Given the description of an element on the screen output the (x, y) to click on. 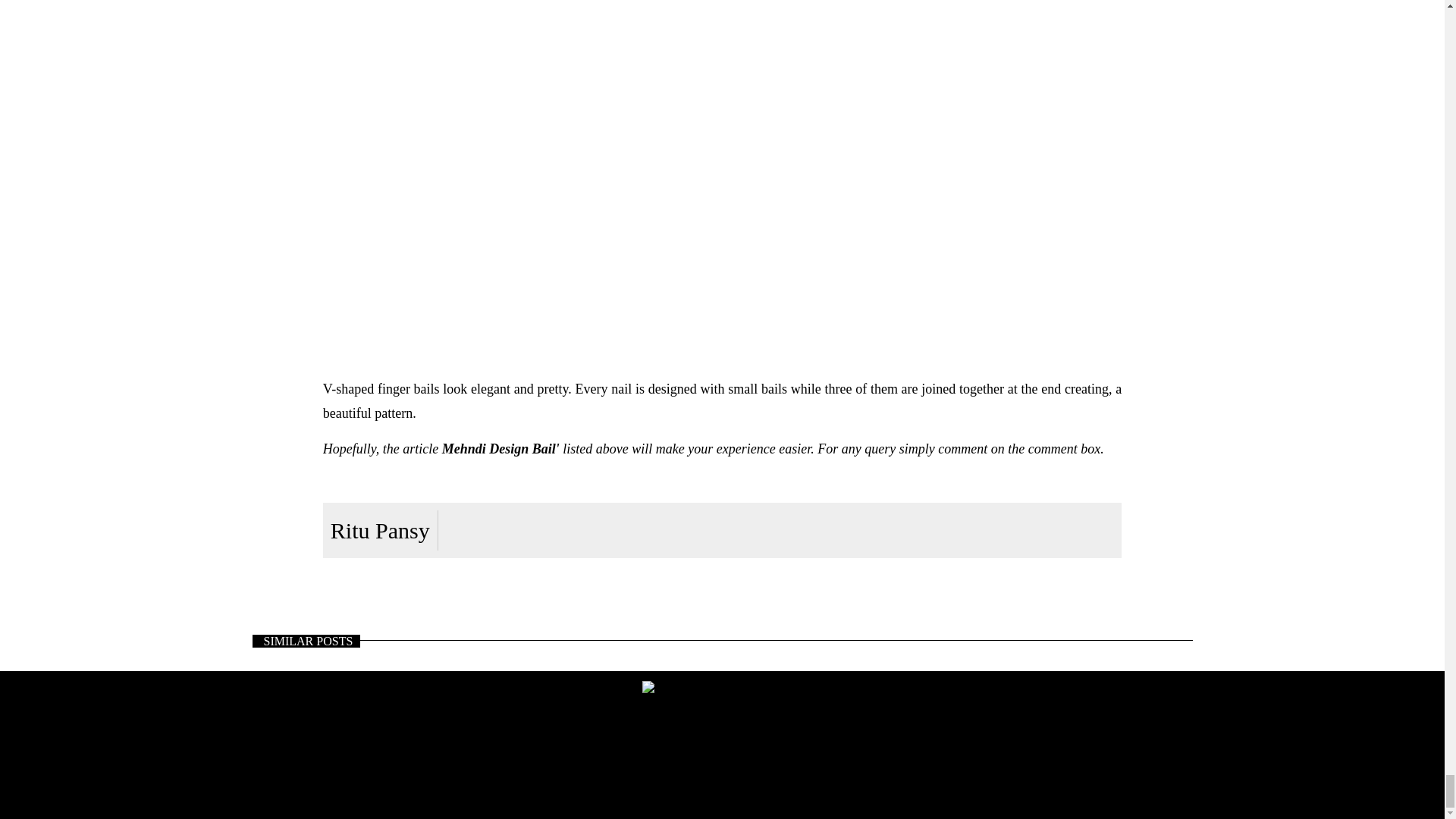
SIMILAR POSTS (305, 640)
The Crazy Tales (722, 692)
Ritu Pansy (379, 529)
Powered by Hocalwire (721, 781)
